Given the description of an element on the screen output the (x, y) to click on. 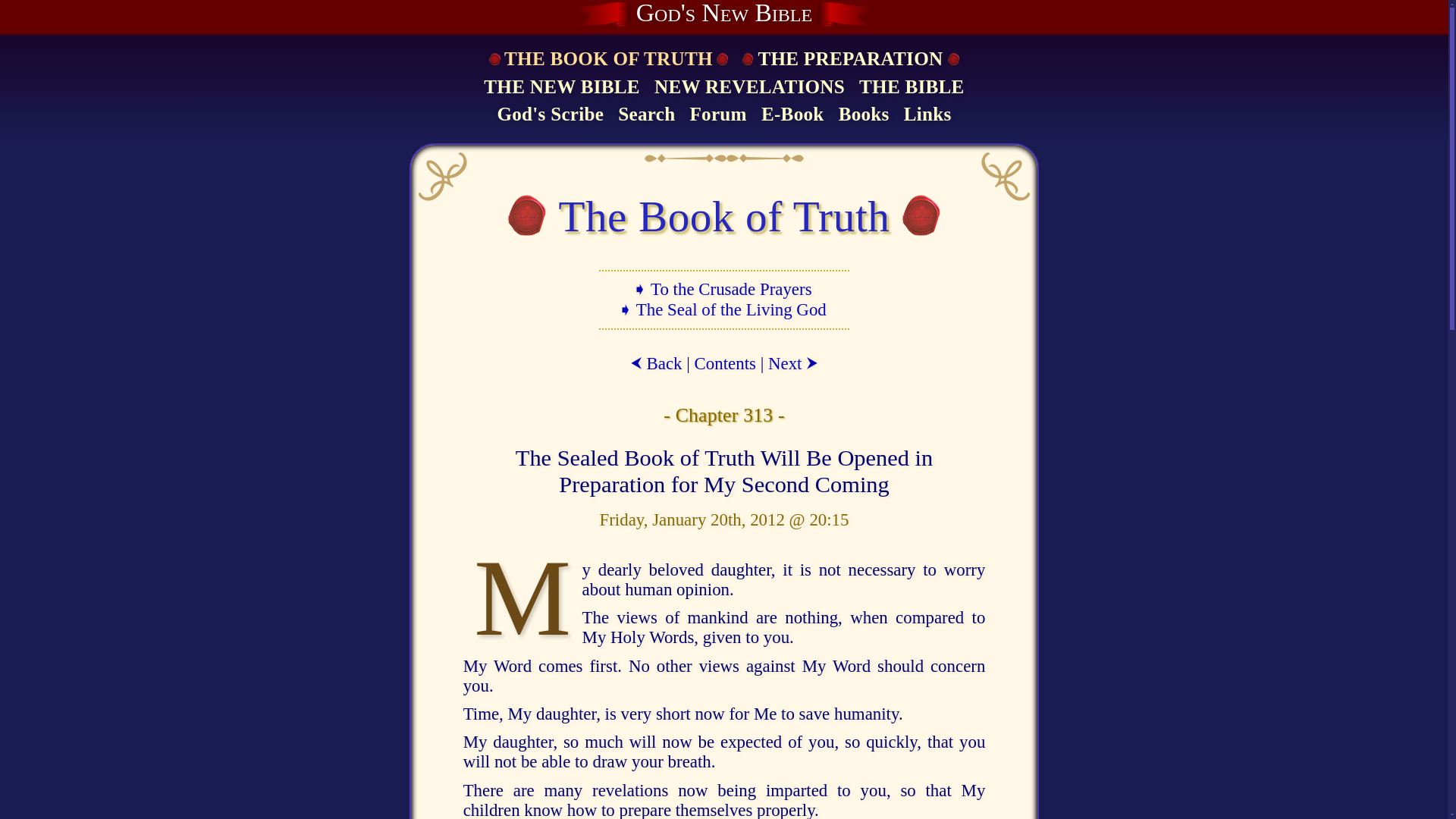
Search (646, 114)
Contents (724, 363)
Links (927, 114)
Books (863, 114)
Forum (717, 114)
God's Scribe (550, 114)
THE NEW BIBLE (561, 87)
THE BIBLE (912, 87)
God's New Bible (724, 14)
NEW REVELATIONS (749, 87)
THE BOOK OF TRUTH (607, 59)
E-Book (792, 114)
